Given the description of an element on the screen output the (x, y) to click on. 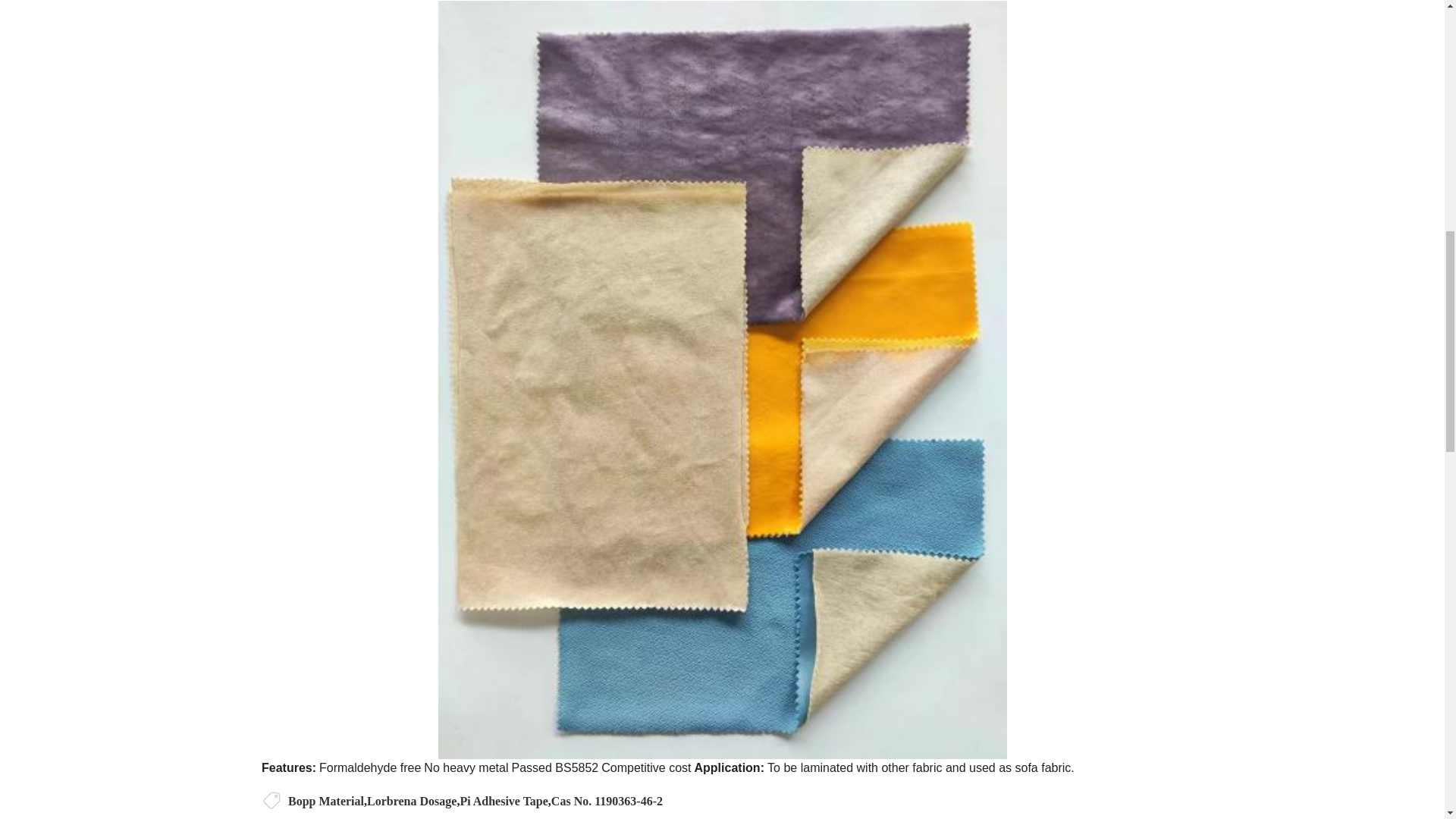
Bopp Material (326, 800)
Cas No. 1190363-46-2 (606, 800)
Lorbrena Dosage (411, 800)
Pi Adhesive Tape (503, 800)
